Given the description of an element on the screen output the (x, y) to click on. 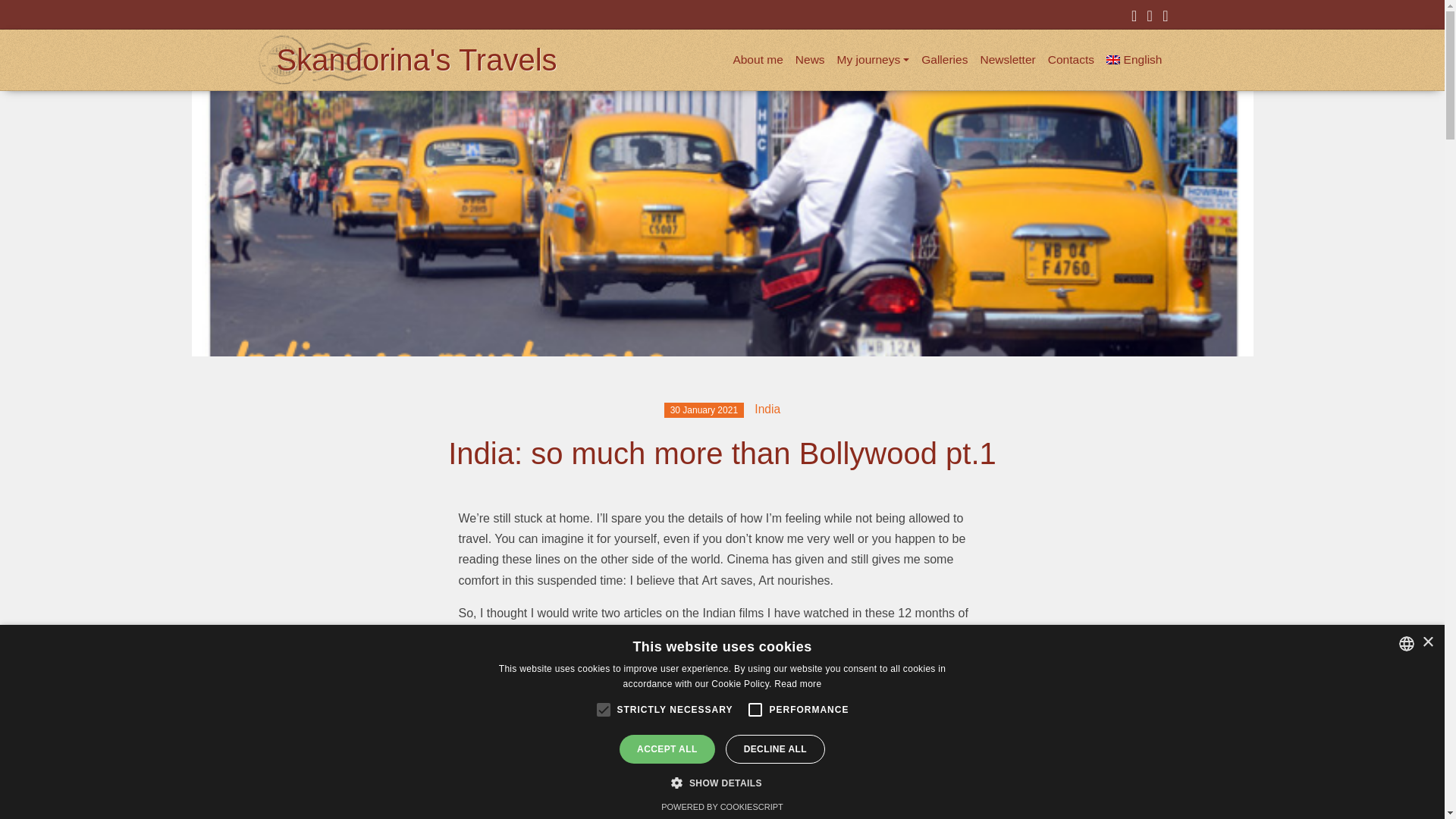
About me (757, 59)
Skandorina's Travels (416, 59)
News (810, 59)
My journeys (873, 59)
Consent Management Platform (722, 806)
